Given the description of an element on the screen output the (x, y) to click on. 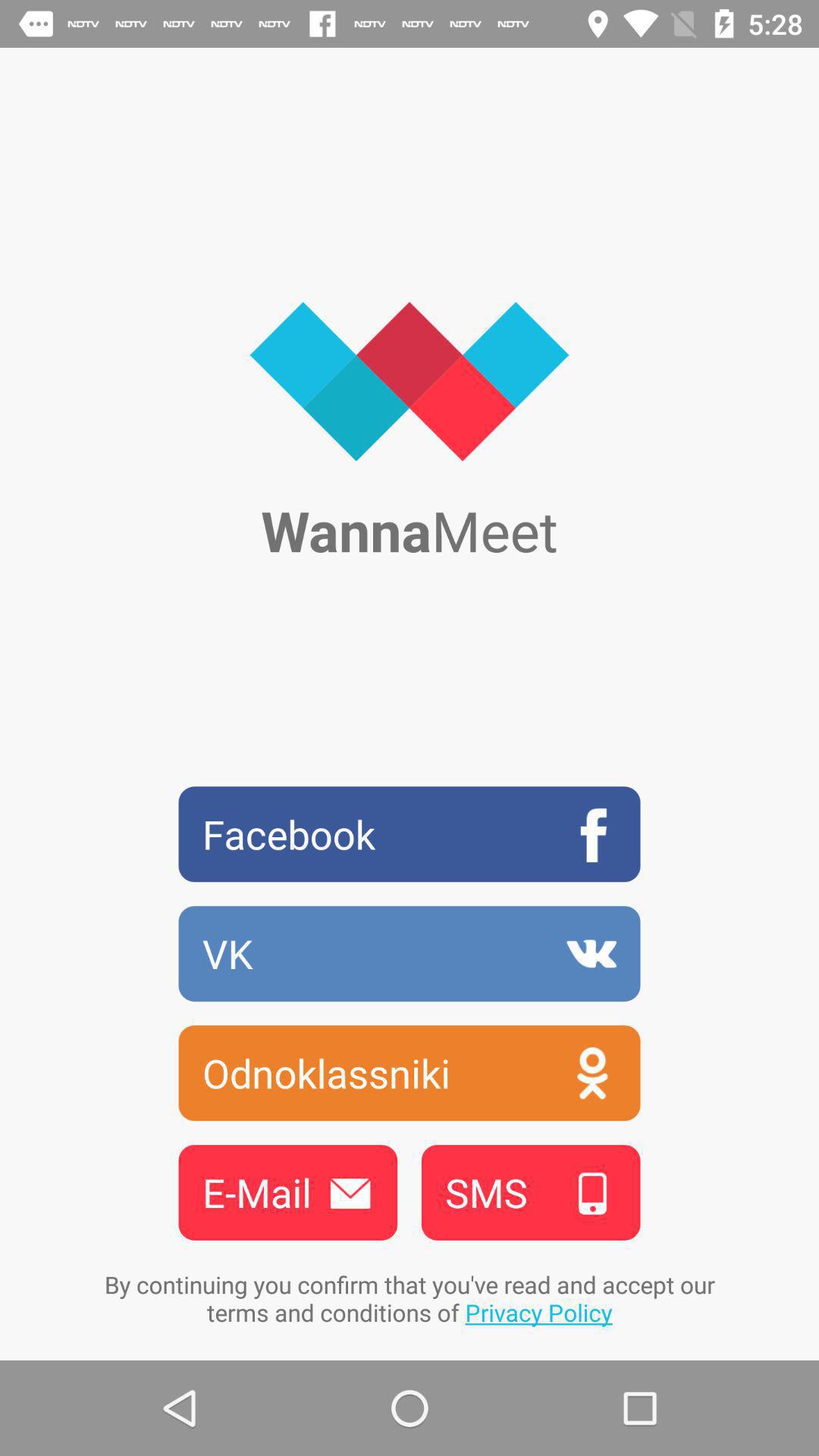
choose by continuing you icon (409, 1298)
